Given the description of an element on the screen output the (x, y) to click on. 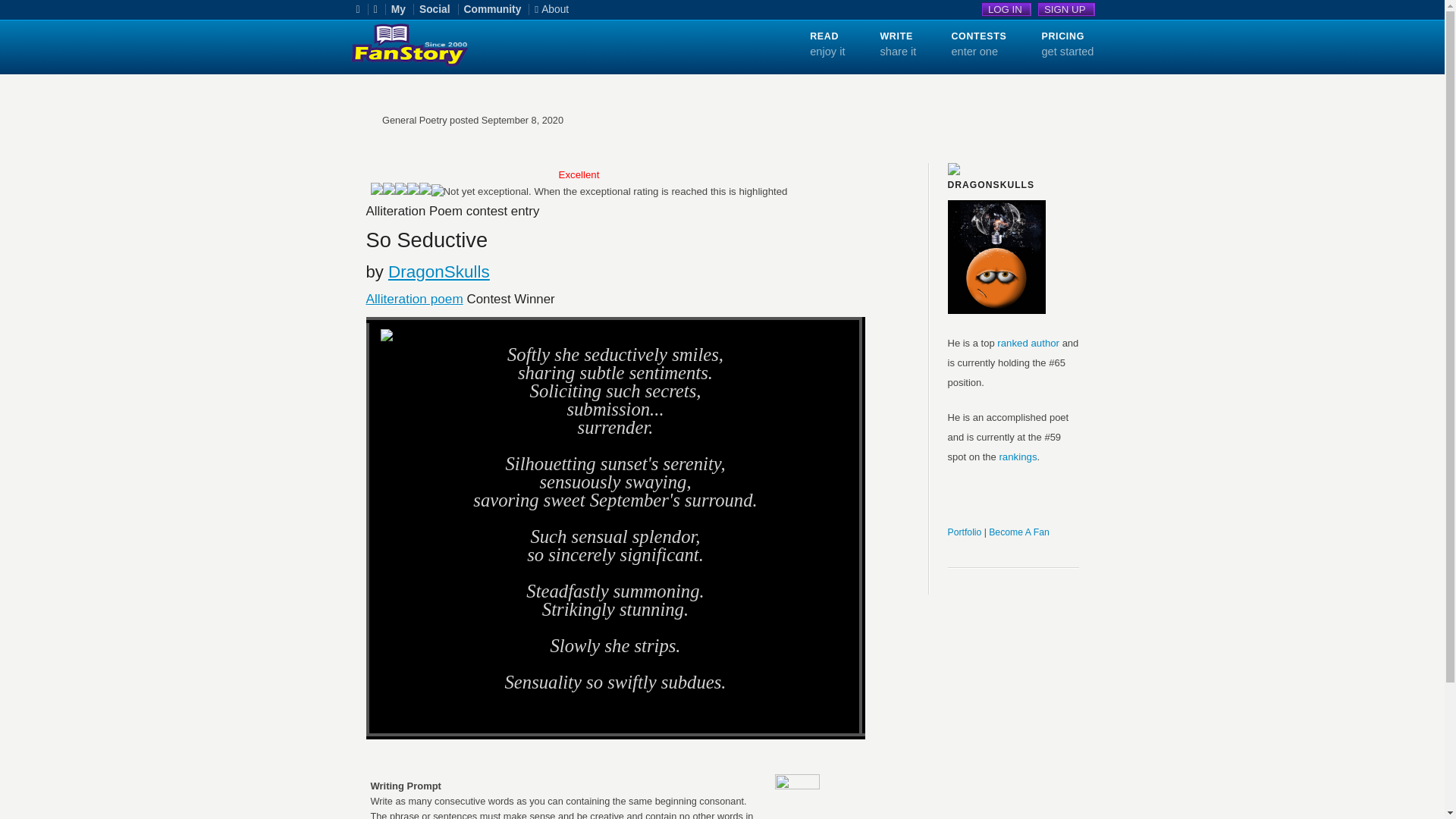
My (402, 9)
Social (438, 9)
  LOG IN (1006, 9)
  SIGN UP (1066, 9)
About (555, 9)
Community (496, 9)
